Given the description of an element on the screen output the (x, y) to click on. 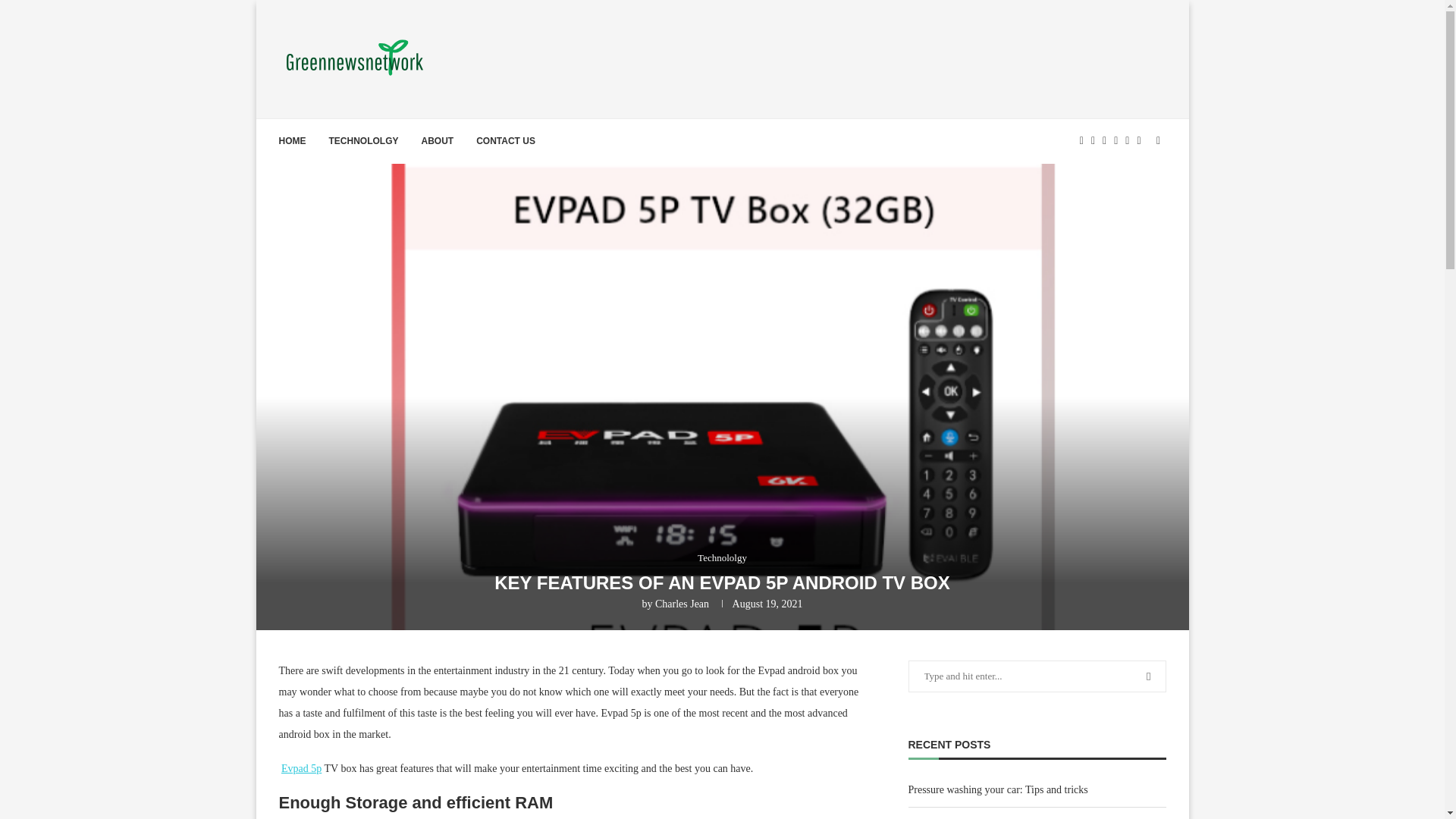
TECHNOLOLGY (363, 140)
Technololgy (721, 558)
ABOUT (438, 140)
Charles Jean (682, 603)
CONTACT US (505, 140)
Evpad 5p (301, 767)
HOME (292, 140)
